Given the description of an element on the screen output the (x, y) to click on. 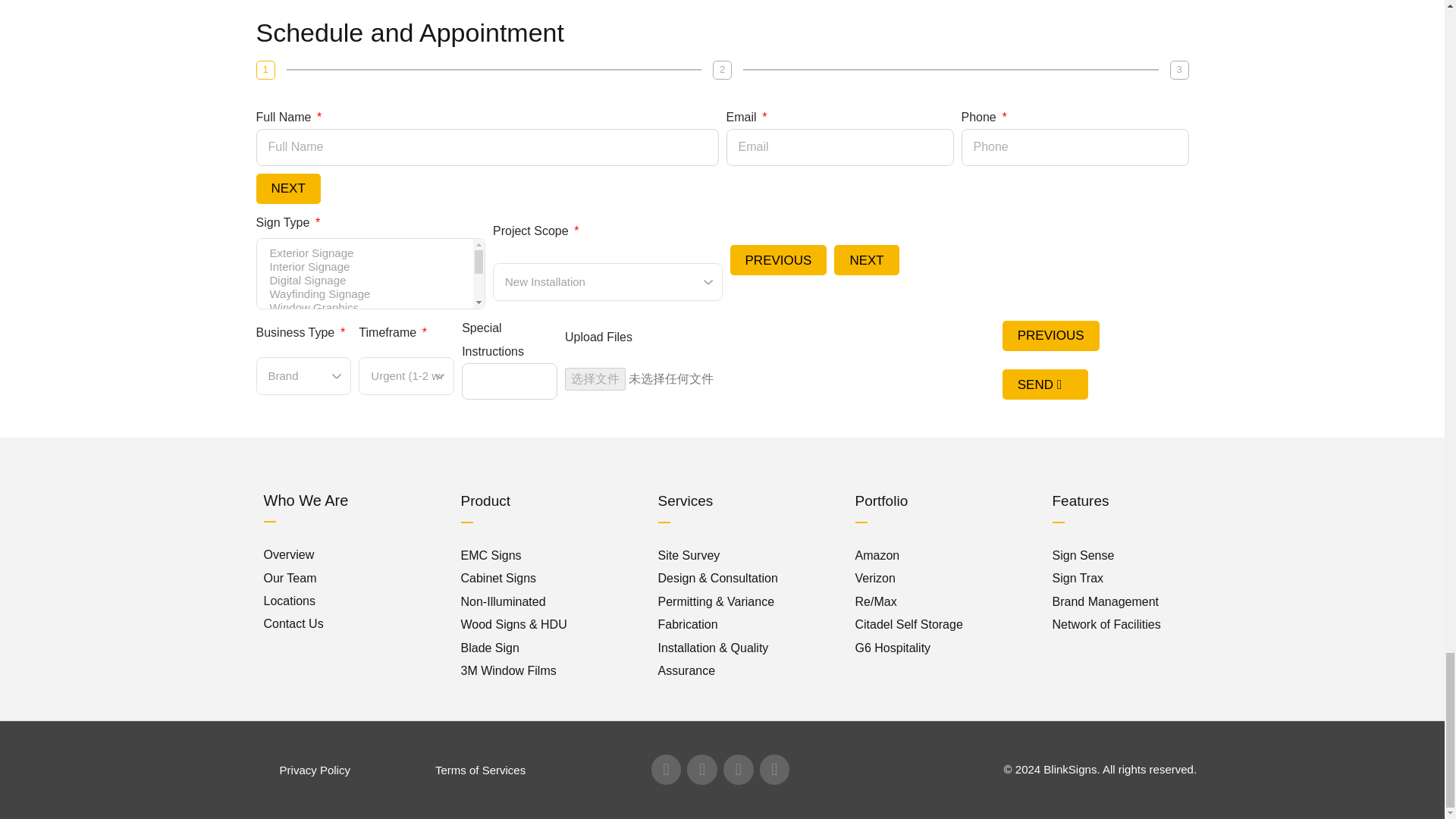
Cabinet Signs (499, 577)
Overview (288, 554)
Non-Illuminated (503, 601)
Citadel Self Storage (909, 624)
Our Team (290, 577)
Verizon (875, 577)
SEND (1045, 384)
NEXT (866, 259)
G6 Hospitality (893, 647)
Locations (289, 600)
Site Survey (689, 554)
NEXT (288, 188)
Amazon (877, 554)
Blade Sign (490, 647)
PREVIOUS (778, 259)
